Given the description of an element on the screen output the (x, y) to click on. 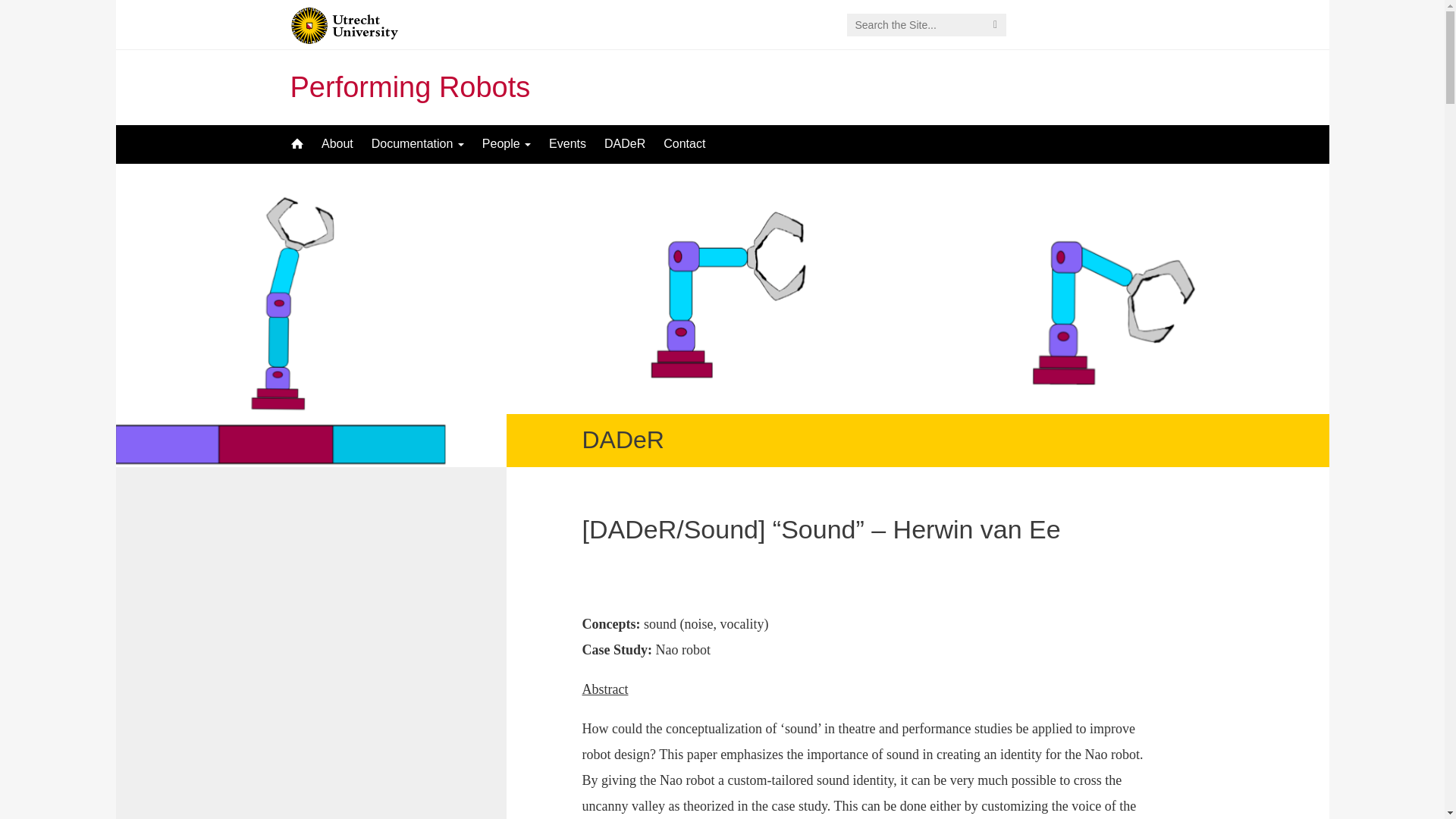
Events (567, 143)
DADeR (624, 143)
Documentation (417, 143)
About (337, 143)
Performing Robots (409, 87)
Contact (683, 143)
Documentation (417, 143)
Contact (683, 143)
About (337, 143)
